Given the description of an element on the screen output the (x, y) to click on. 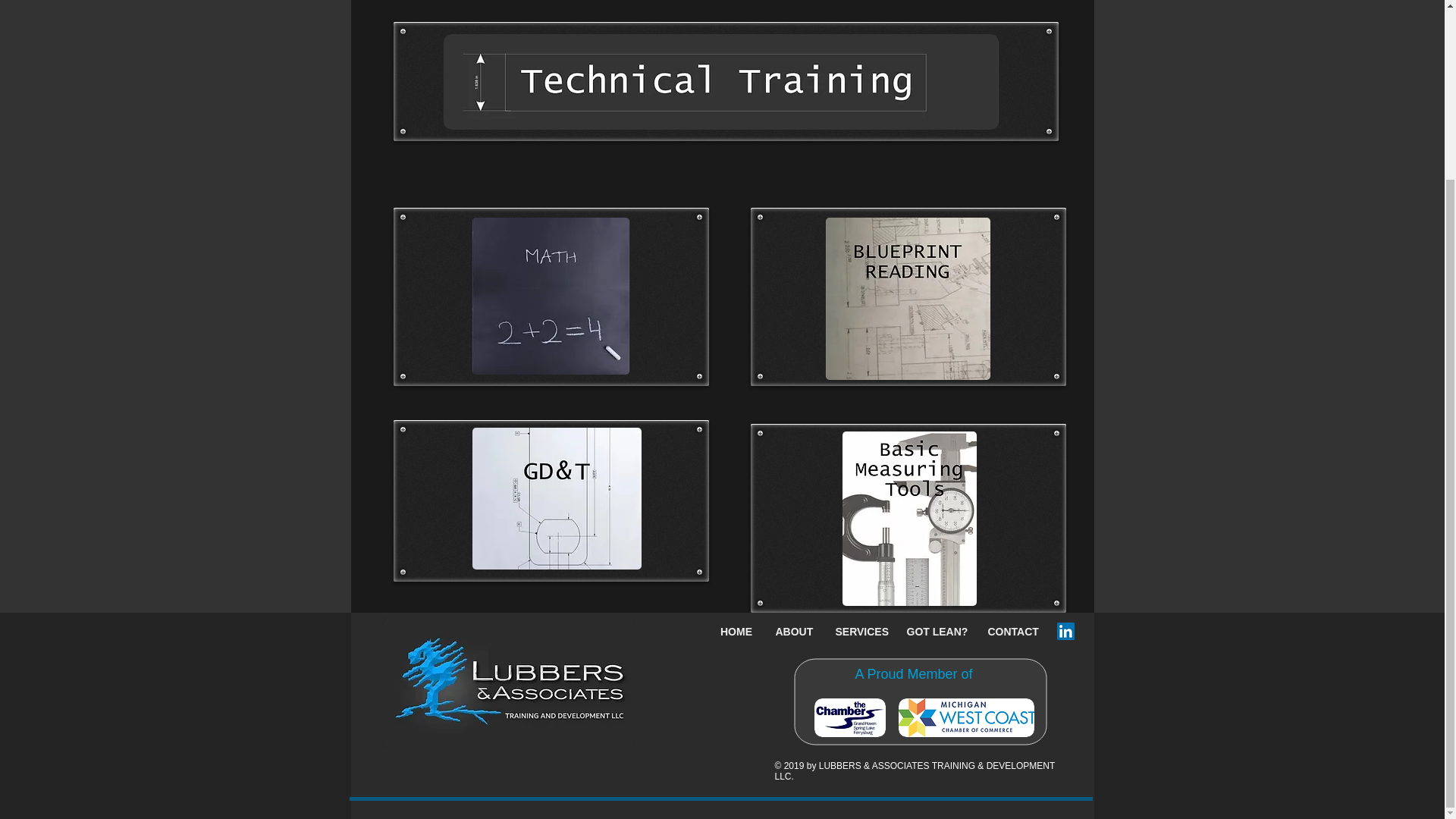
ABOUT (794, 631)
SERVICES (859, 631)
GOT LEAN? (935, 631)
CONTACT (1012, 631)
HOME (734, 631)
